Given the description of an element on the screen output the (x, y) to click on. 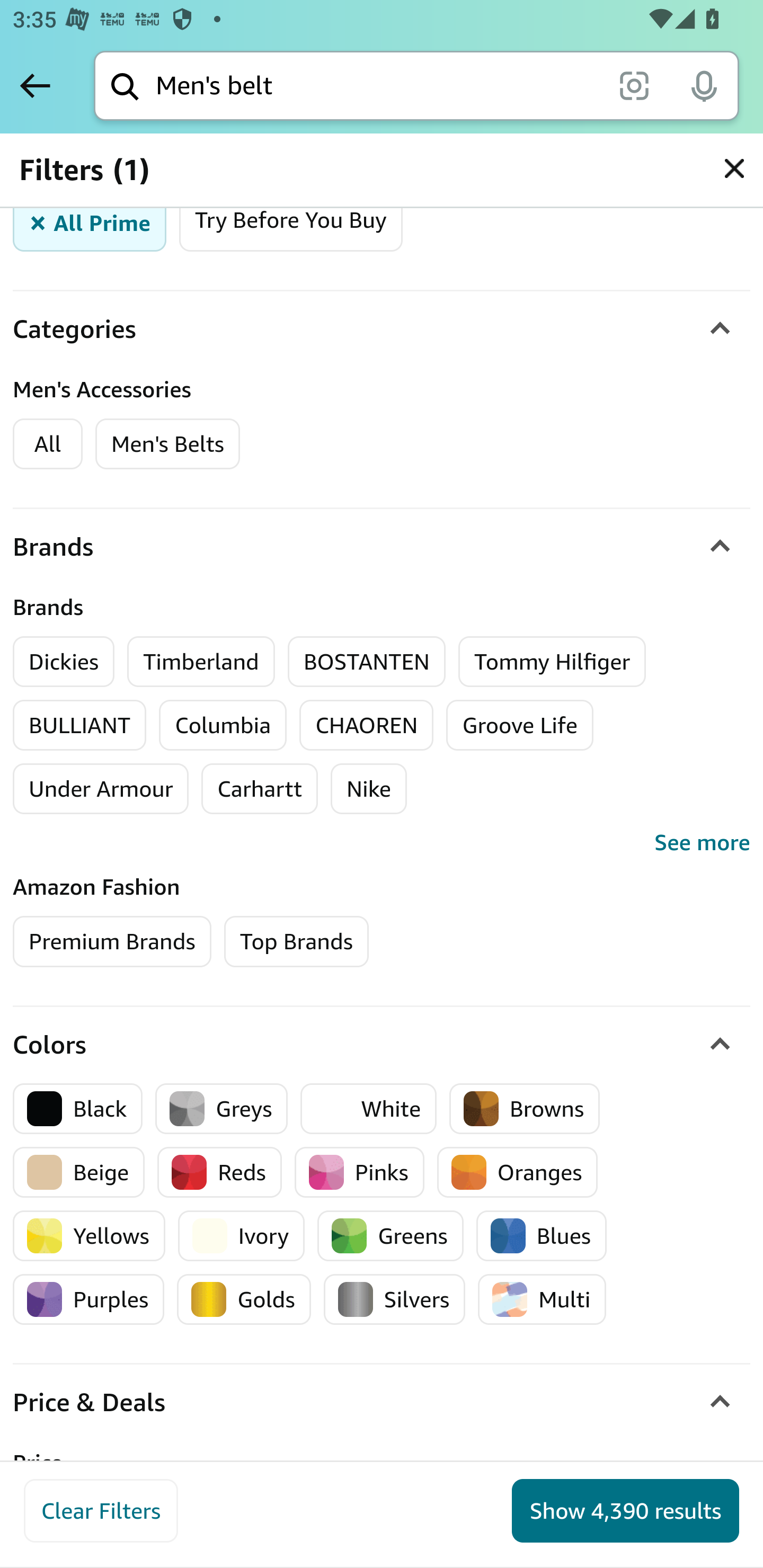
Back (35, 85)
scan it (633, 85)
× All Prime × All Prime (89, 223)
Try Before You Buy (290, 223)
Categories (381, 329)
All (47, 444)
Men's Belts (167, 444)
Brands (381, 547)
Dickies (63, 661)
Timberland (200, 661)
BOSTANTEN (366, 661)
Tommy Hilfiger (552, 661)
BULLIANT (80, 725)
Columbia (222, 725)
CHAOREN (366, 725)
Groove Life (519, 725)
Under Armour (100, 788)
Carhartt (258, 788)
Nike (369, 788)
Premium Brands (111, 941)
Top Brands (295, 941)
Colors (381, 1044)
Black Black Black Black (77, 1108)
Greys Greys Greys Greys (221, 1108)
White White White White (368, 1108)
Browns Browns Browns Browns (524, 1108)
Beige Beige Beige Beige (79, 1171)
Reds Reds Reds Reds (220, 1171)
Pinks Pinks Pinks Pinks (358, 1171)
Oranges Oranges Oranges Oranges (516, 1171)
Yellows Yellows Yellows Yellows (88, 1235)
Ivory Ivory Ivory Ivory (240, 1235)
Greens Greens Greens Greens (389, 1235)
Blues Blues Blues Blues (541, 1235)
Purples Purples Purples Purples (88, 1298)
Golds Golds Golds Golds (243, 1298)
Silvers Silvers Silvers Silvers (393, 1298)
Multi Multi Multi Multi (541, 1298)
Price & Deals (381, 1402)
Clear Filters (100, 1510)
Show 4,390 results (625, 1510)
+34 colors/patterns (570, 1508)
